Given the description of an element on the screen output the (x, y) to click on. 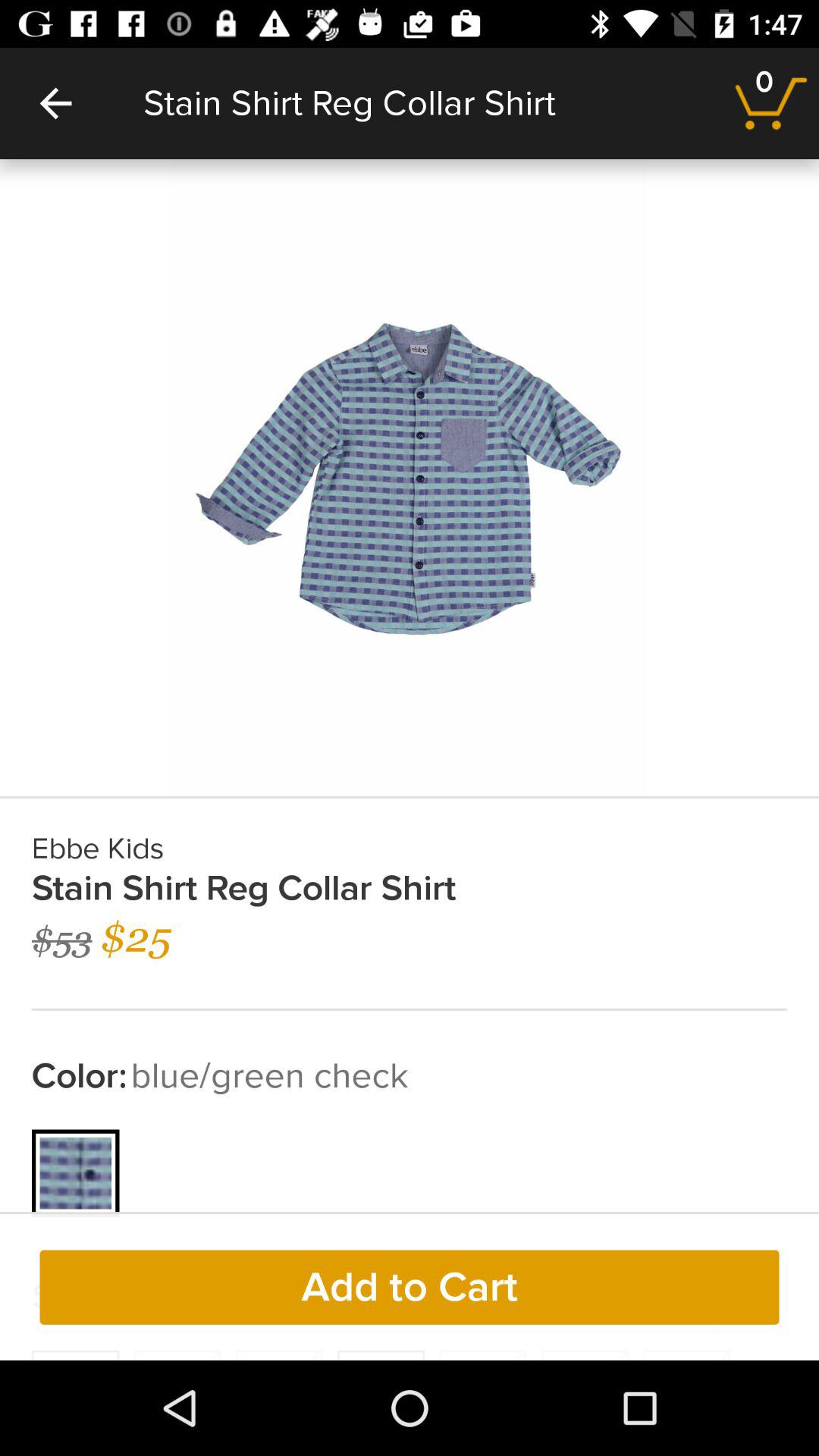
select image under color (75, 1173)
select blue colour option (75, 1173)
click on the cart icon (770, 102)
